Given the description of an element on the screen output the (x, y) to click on. 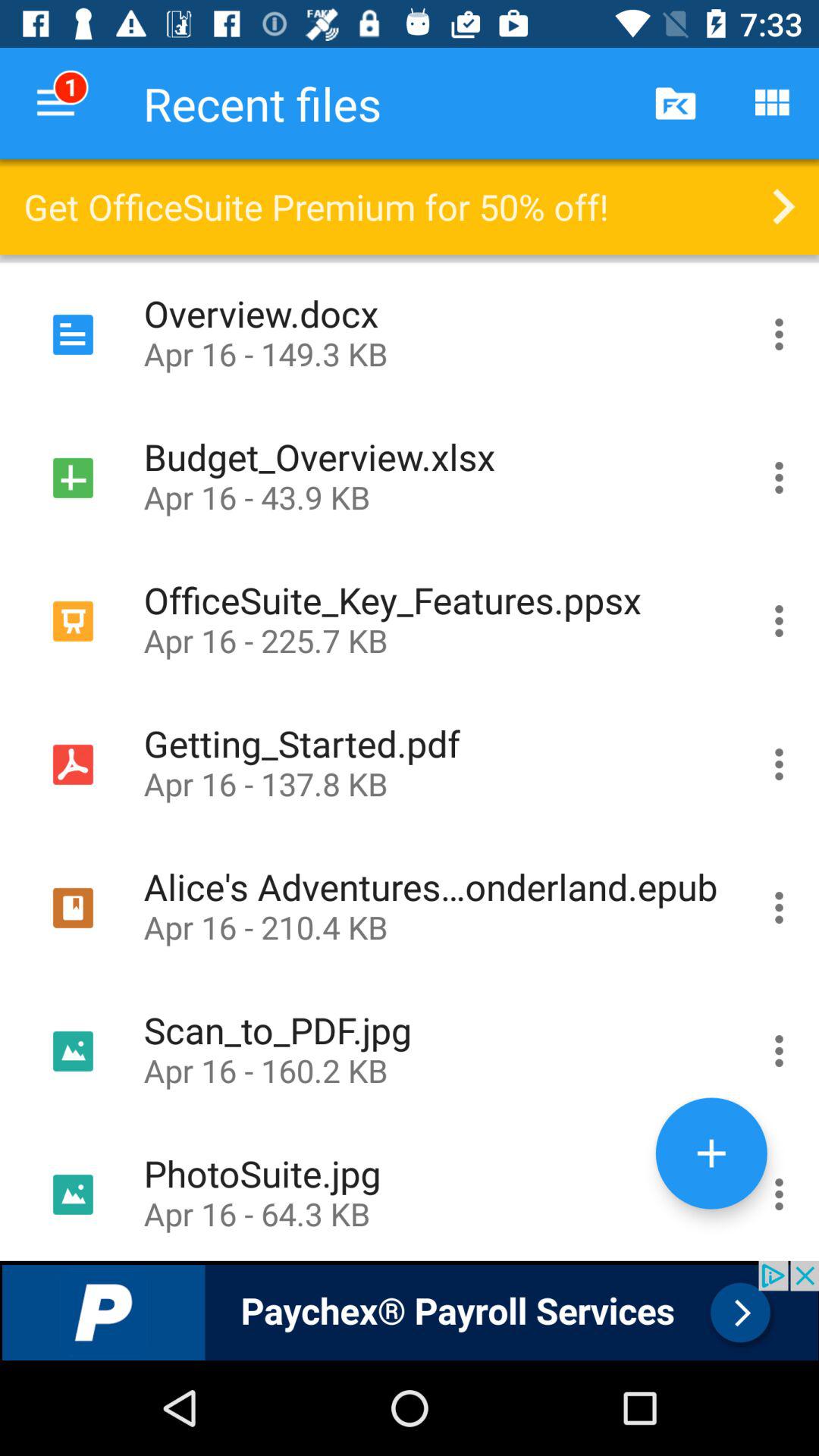
view the content of the file (779, 620)
